Given the description of an element on the screen output the (x, y) to click on. 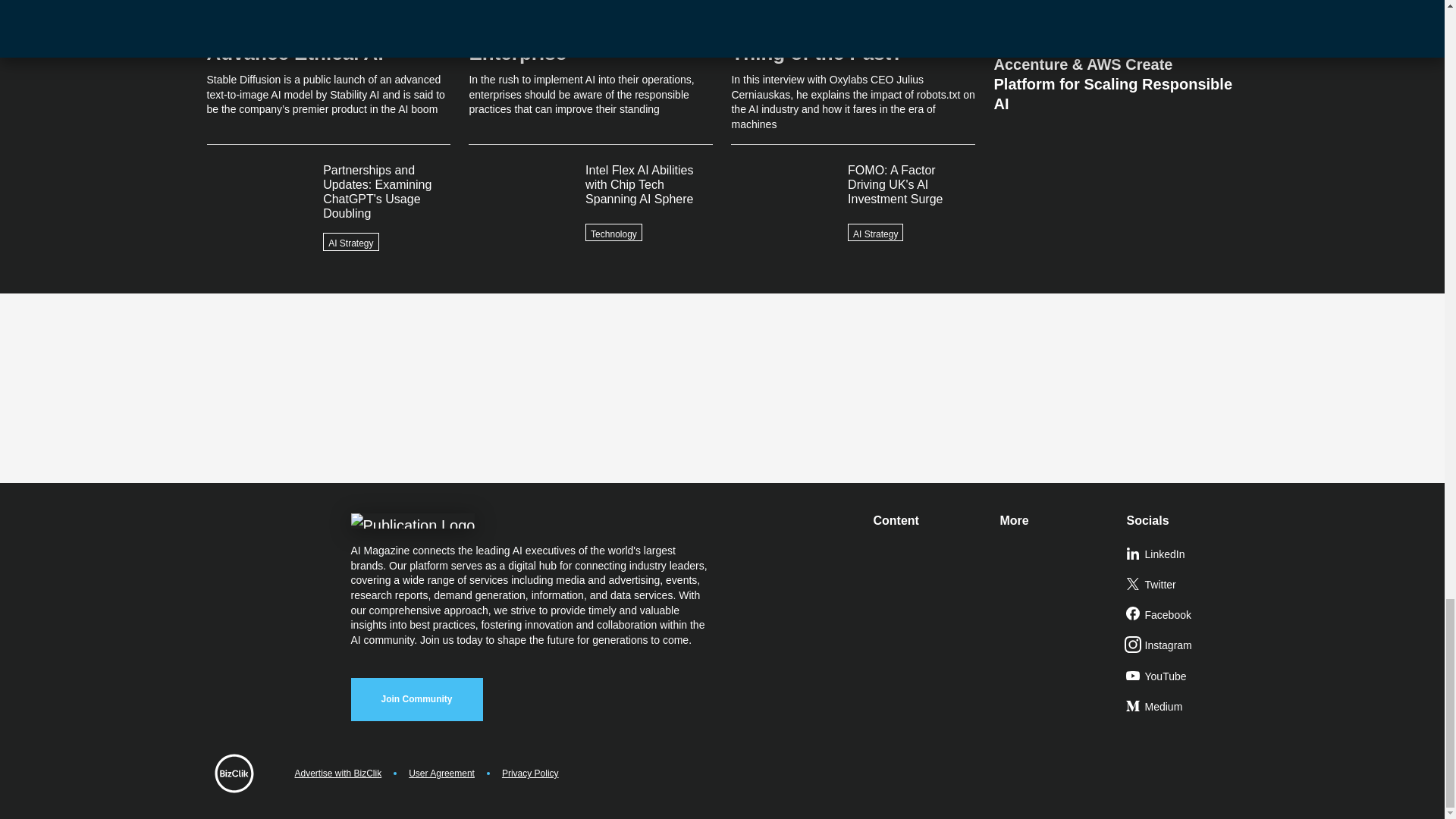
AI Readiness Requires Tackling Data Integration Challenges (1114, 21)
Facebook (1182, 615)
Join Community (415, 699)
Instagram (1182, 645)
Medium (1182, 707)
LinkedIn (1182, 554)
Twitter (1182, 585)
YouTube (1182, 676)
Advertise with BizClik (337, 773)
